Given the description of an element on the screen output the (x, y) to click on. 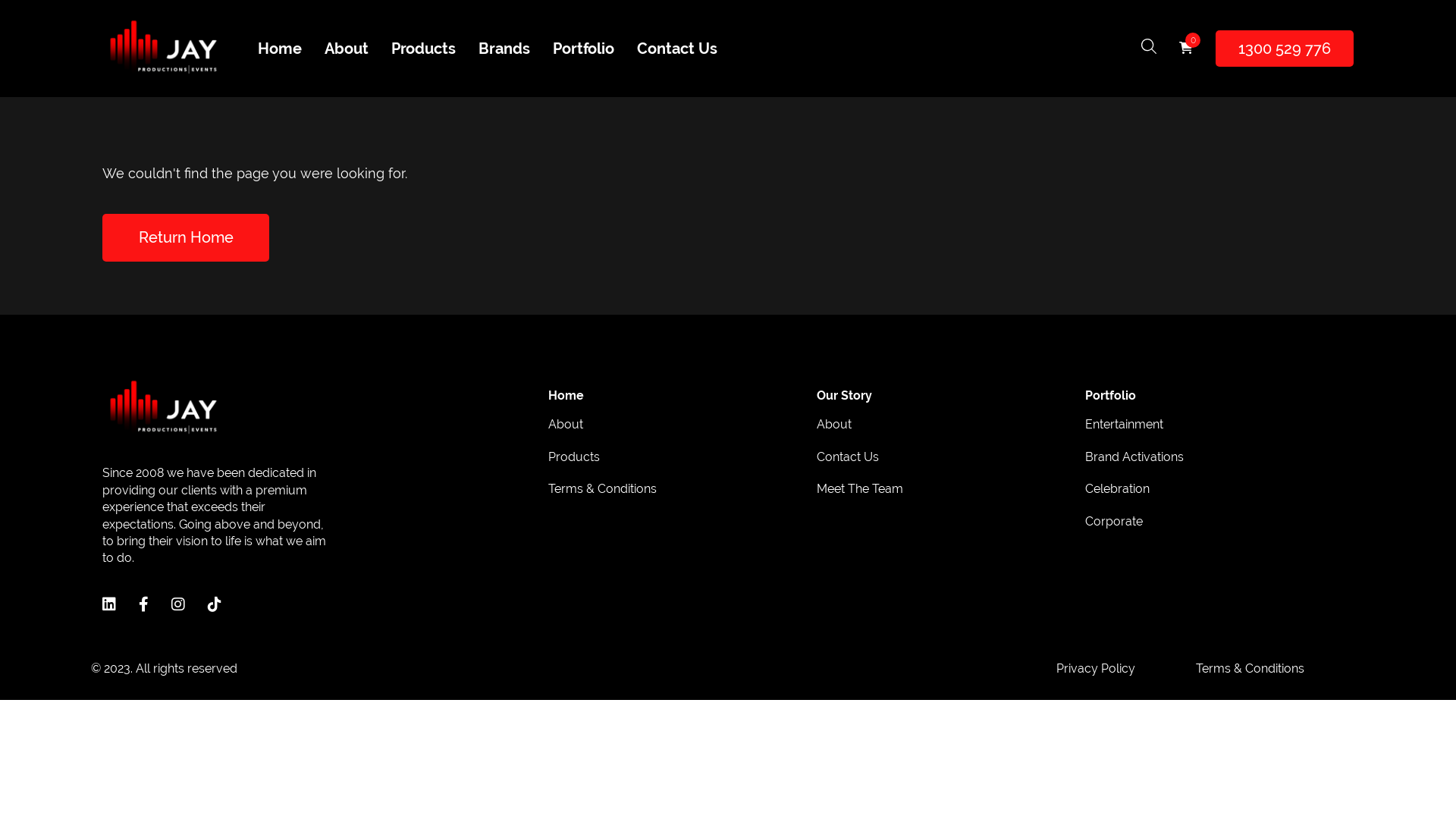
Products Element type: text (423, 48)
About Element type: text (346, 48)
Terms & Conditions Element type: text (602, 496)
Entertainment Element type: text (1124, 432)
Contact Us Element type: text (677, 48)
Privacy Policy Element type: text (1095, 668)
About Element type: text (833, 432)
Corporate Element type: text (1113, 529)
Contact Us Element type: text (847, 464)
Meet The Team Element type: text (859, 496)
Products Element type: text (573, 464)
Terms & Conditions Element type: text (1249, 668)
Brand Activations Element type: text (1134, 464)
1300 529 776 Element type: text (1284, 48)
Home Element type: text (279, 48)
Portfolio Element type: text (583, 48)
Brands Element type: text (504, 48)
0 Element type: text (1185, 47)
Celebration Element type: text (1117, 496)
About Element type: text (565, 432)
Return Home Element type: text (185, 237)
